Given the description of an element on the screen output the (x, y) to click on. 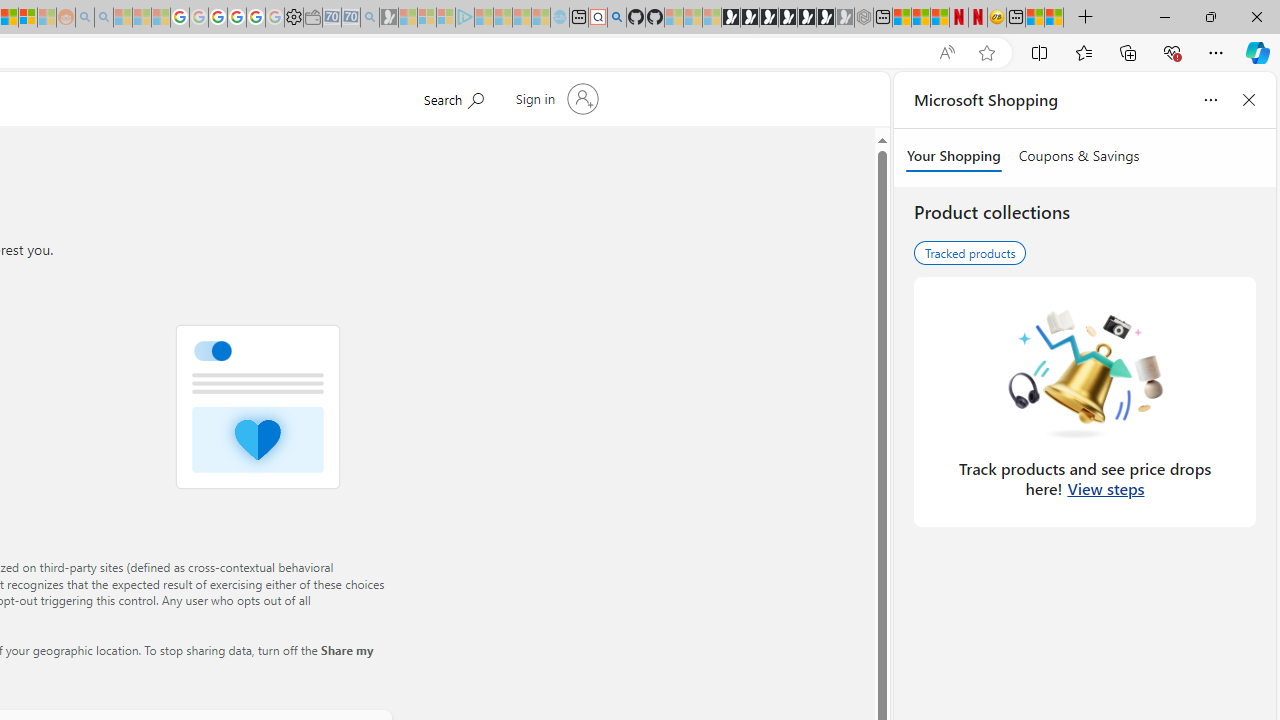
Sign in to your account (554, 98)
